Given the description of an element on the screen output the (x, y) to click on. 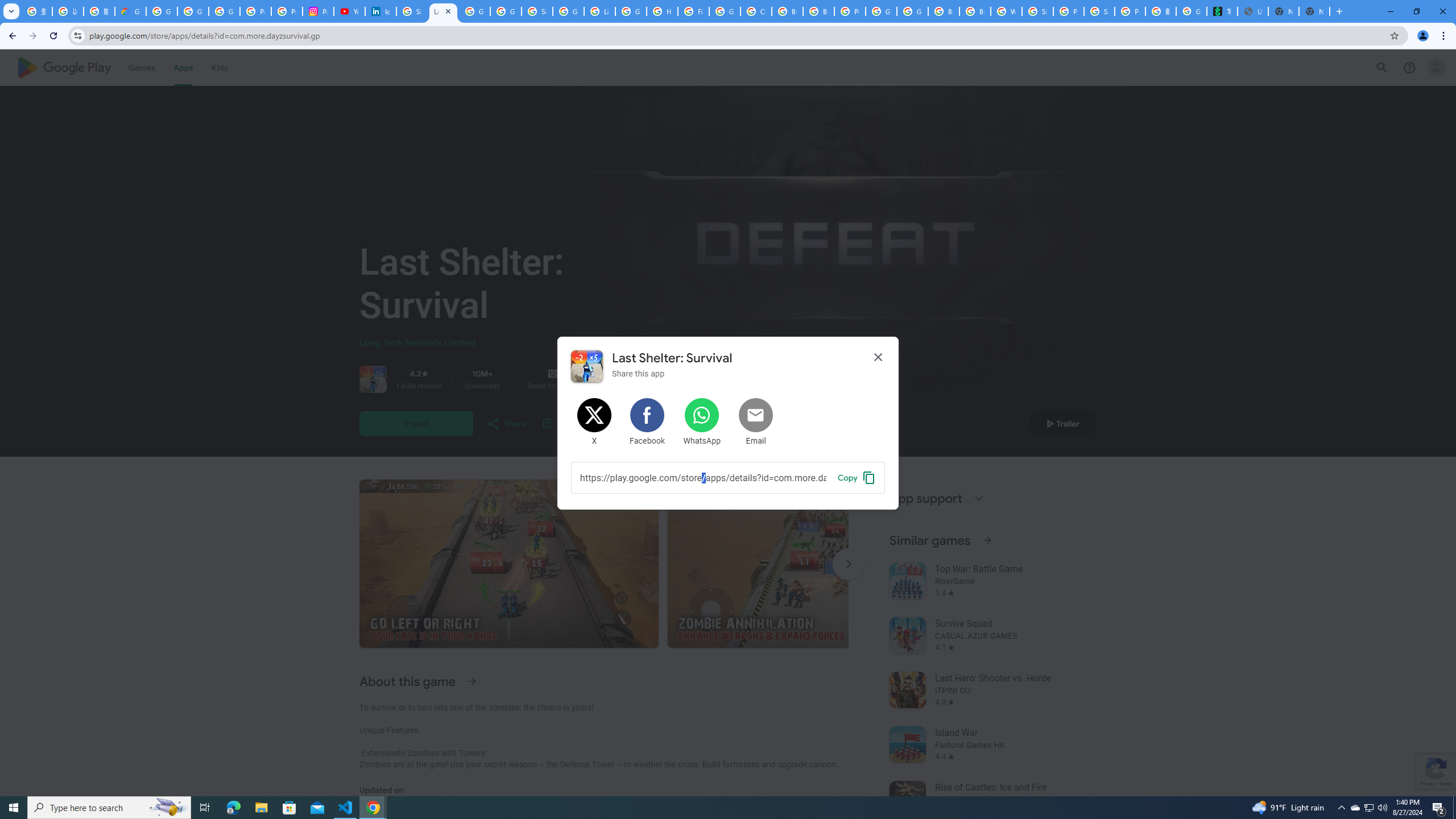
Privacy Help Center - Policies Help (286, 11)
Share by Email (755, 421)
New Tab (1314, 11)
